Given the description of an element on the screen output the (x, y) to click on. 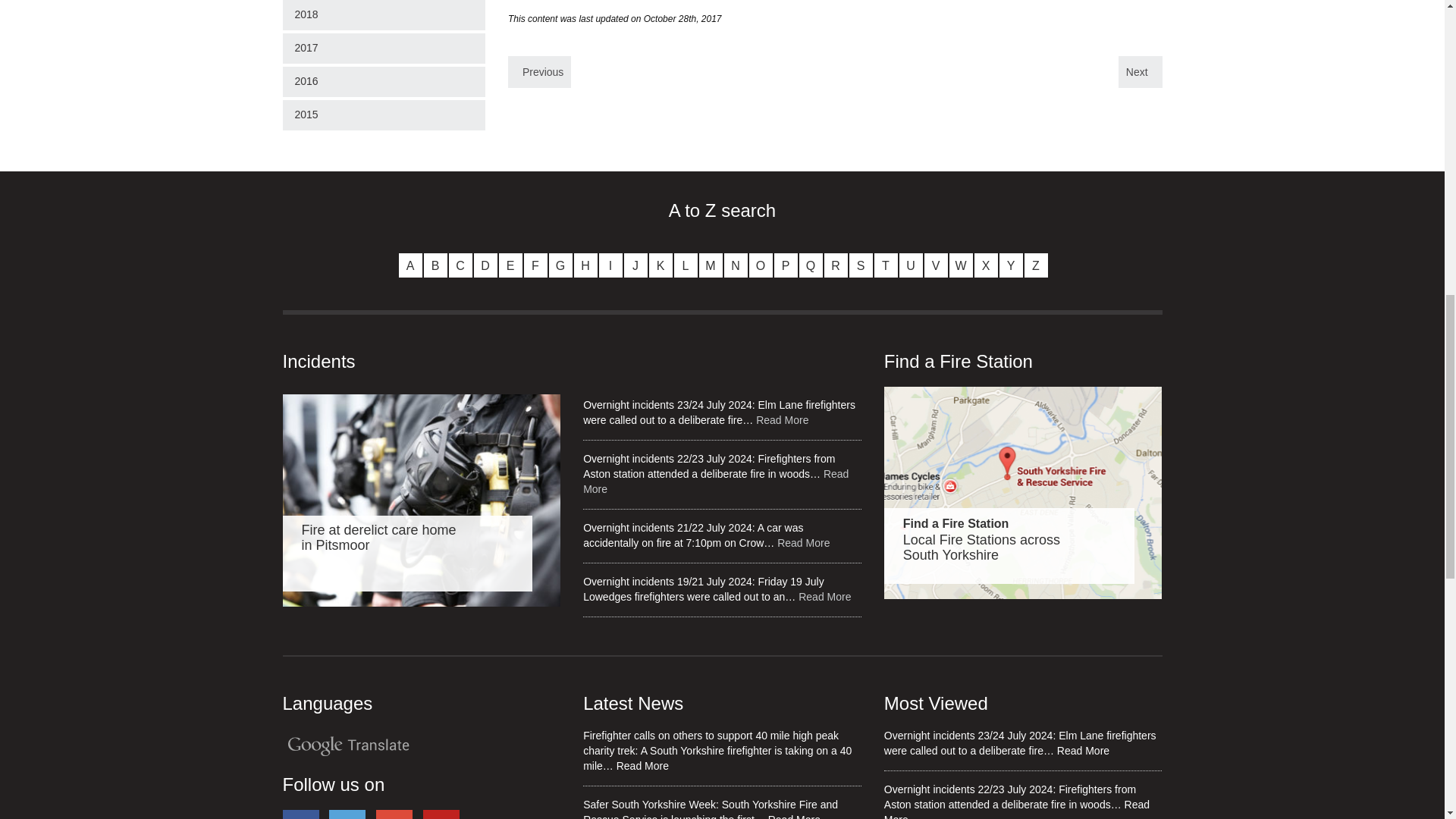
2016 (383, 81)
2015 (383, 114)
2017 (383, 48)
2018 (383, 15)
